Given the description of an element on the screen output the (x, y) to click on. 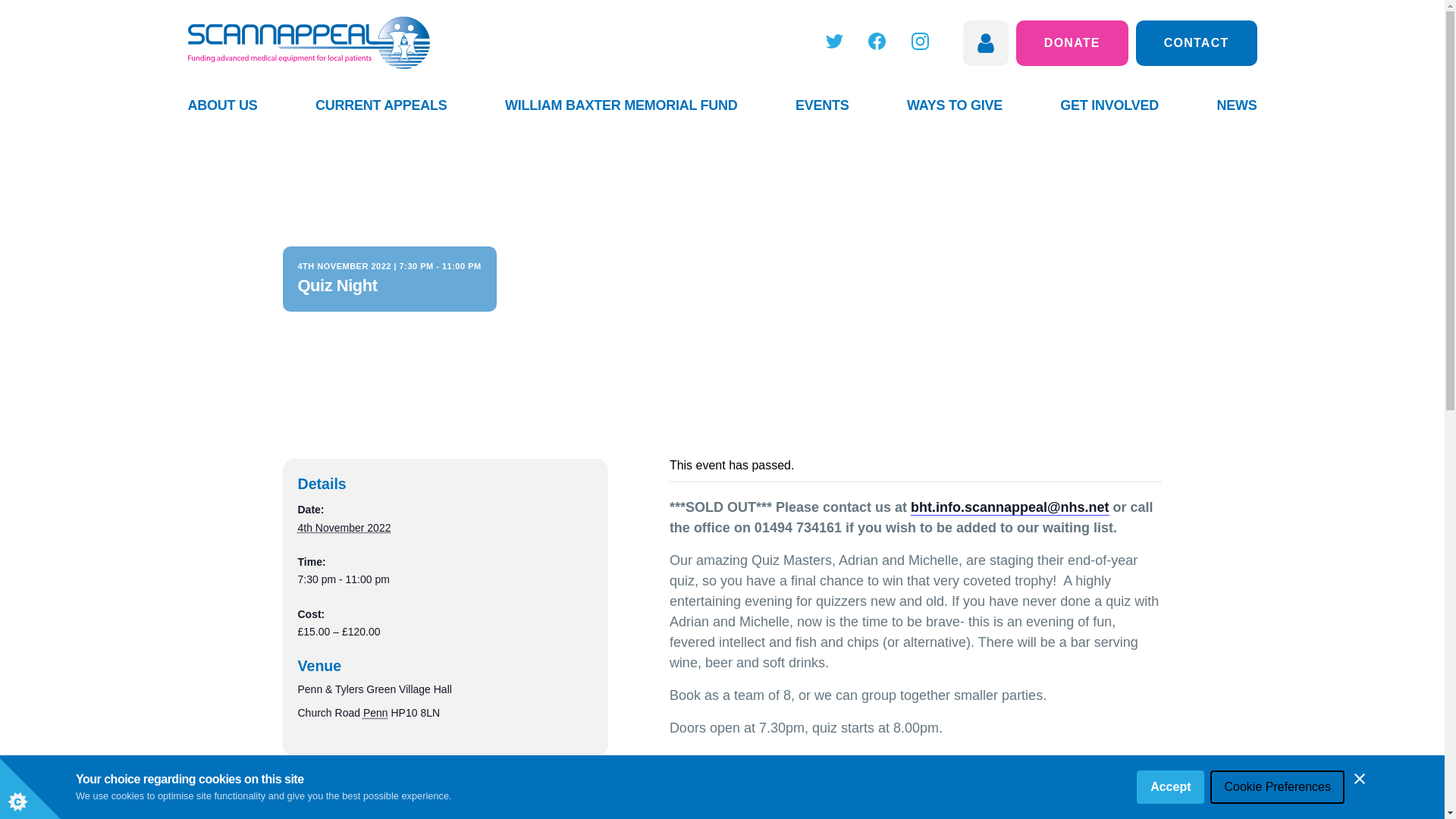
CONTACT (1196, 42)
2022-11-04 (444, 579)
WAYS TO GIVE (955, 105)
2022-11-04 (343, 527)
DONATE (1072, 42)
Cookie Control Icon (30, 788)
NEWS (1235, 105)
View your account (985, 42)
ABOUT US (222, 105)
EVENTS (821, 105)
